Given the description of an element on the screen output the (x, y) to click on. 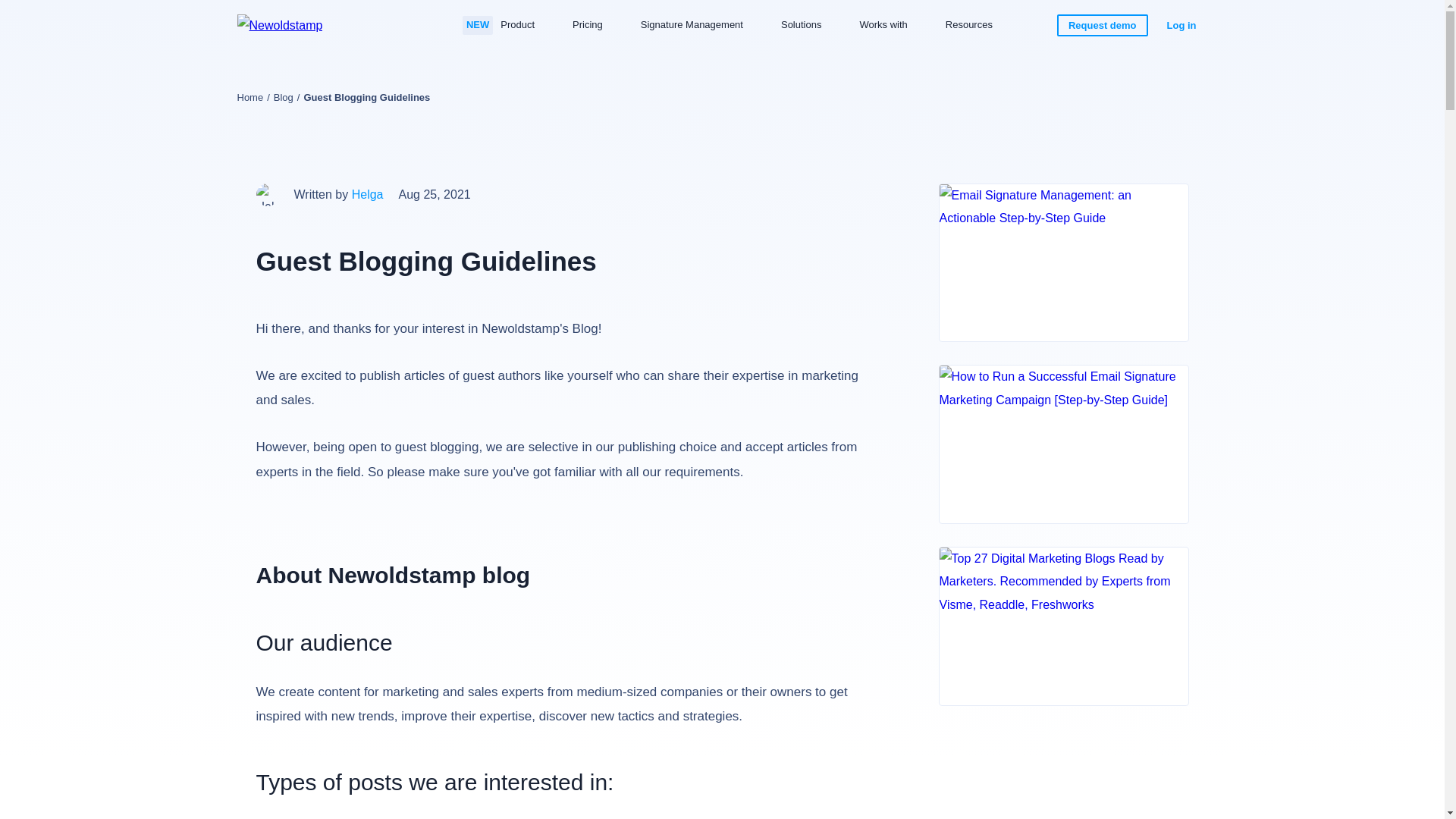
Works with (883, 24)
Written by  Helga (368, 194)
Blog (283, 97)
Signature Management (691, 24)
Home (249, 97)
